Given the description of an element on the screen output the (x, y) to click on. 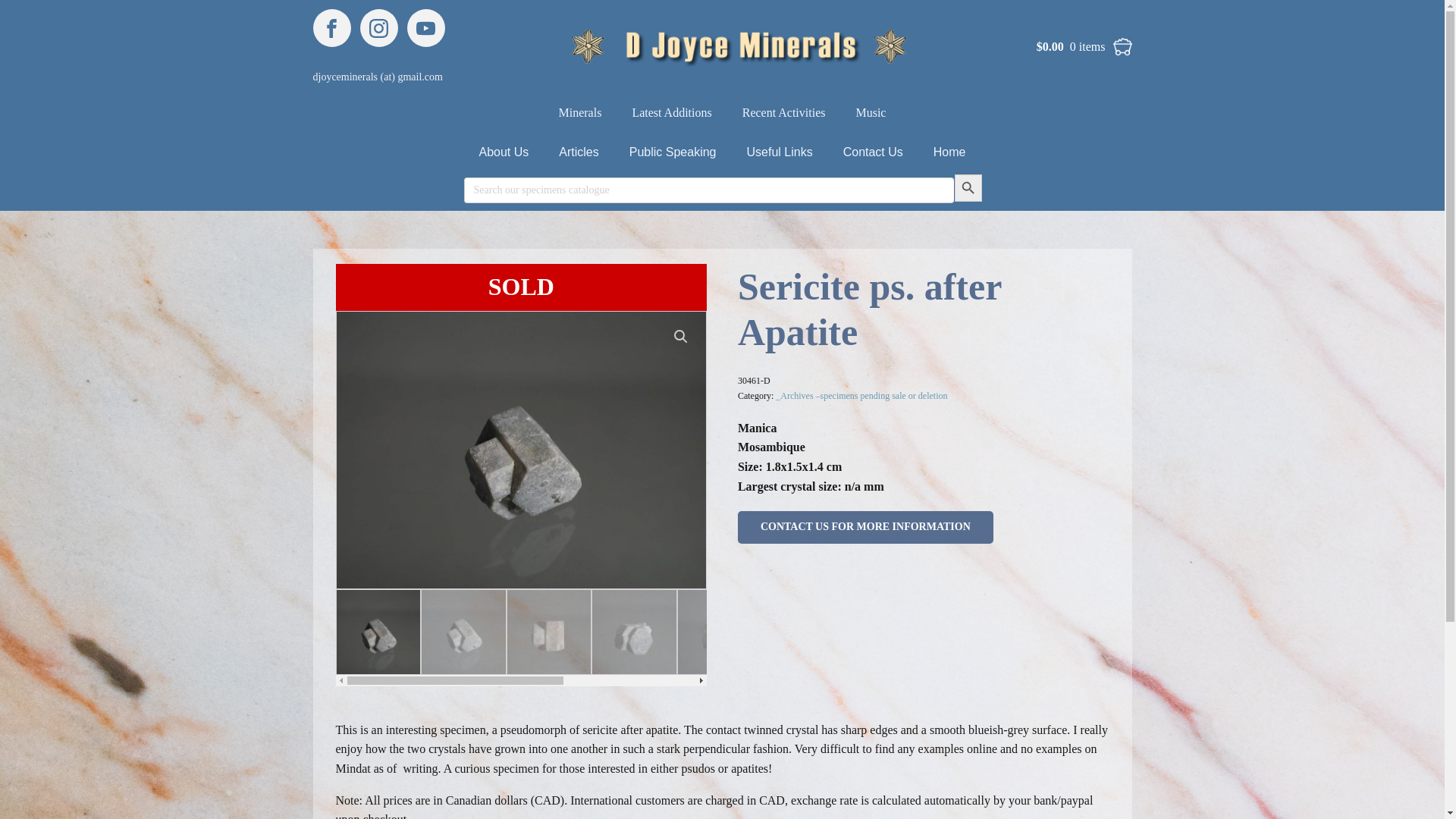
CONTACT US FOR MORE INFORMATION (865, 526)
Minerals (580, 112)
Recent Activities (783, 112)
30461 (521, 450)
SEARCH BUTTON (967, 186)
30461 (890, 450)
Articles (577, 152)
Latest Additions (670, 112)
Contact Us (873, 152)
Public Speaking (673, 152)
Useful Links (780, 152)
Home (949, 152)
About Us (504, 152)
Music (870, 112)
